Given the description of an element on the screen output the (x, y) to click on. 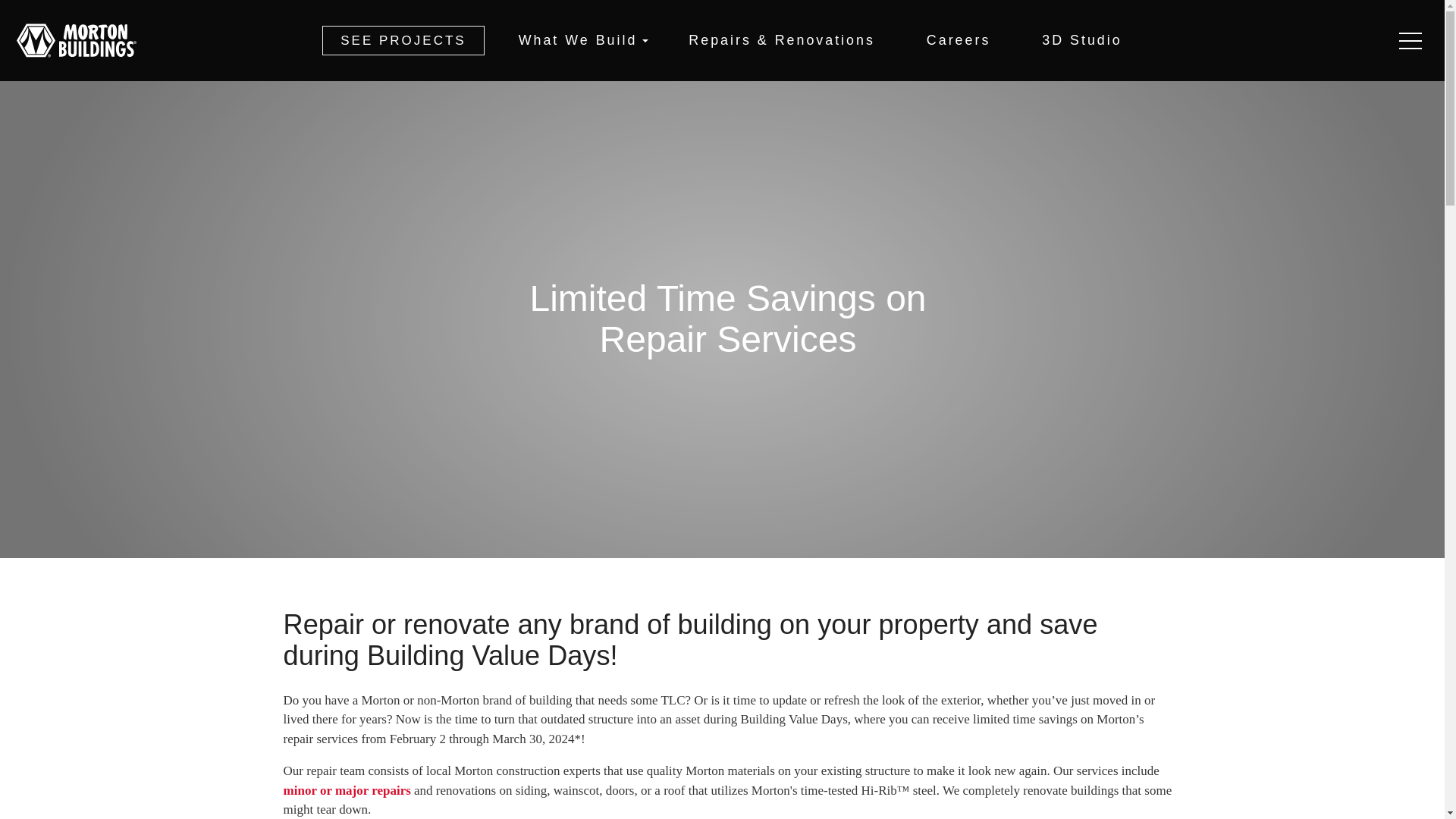
wordmark (97, 40)
SEE PROJECTS (402, 40)
